Given the description of an element on the screen output the (x, y) to click on. 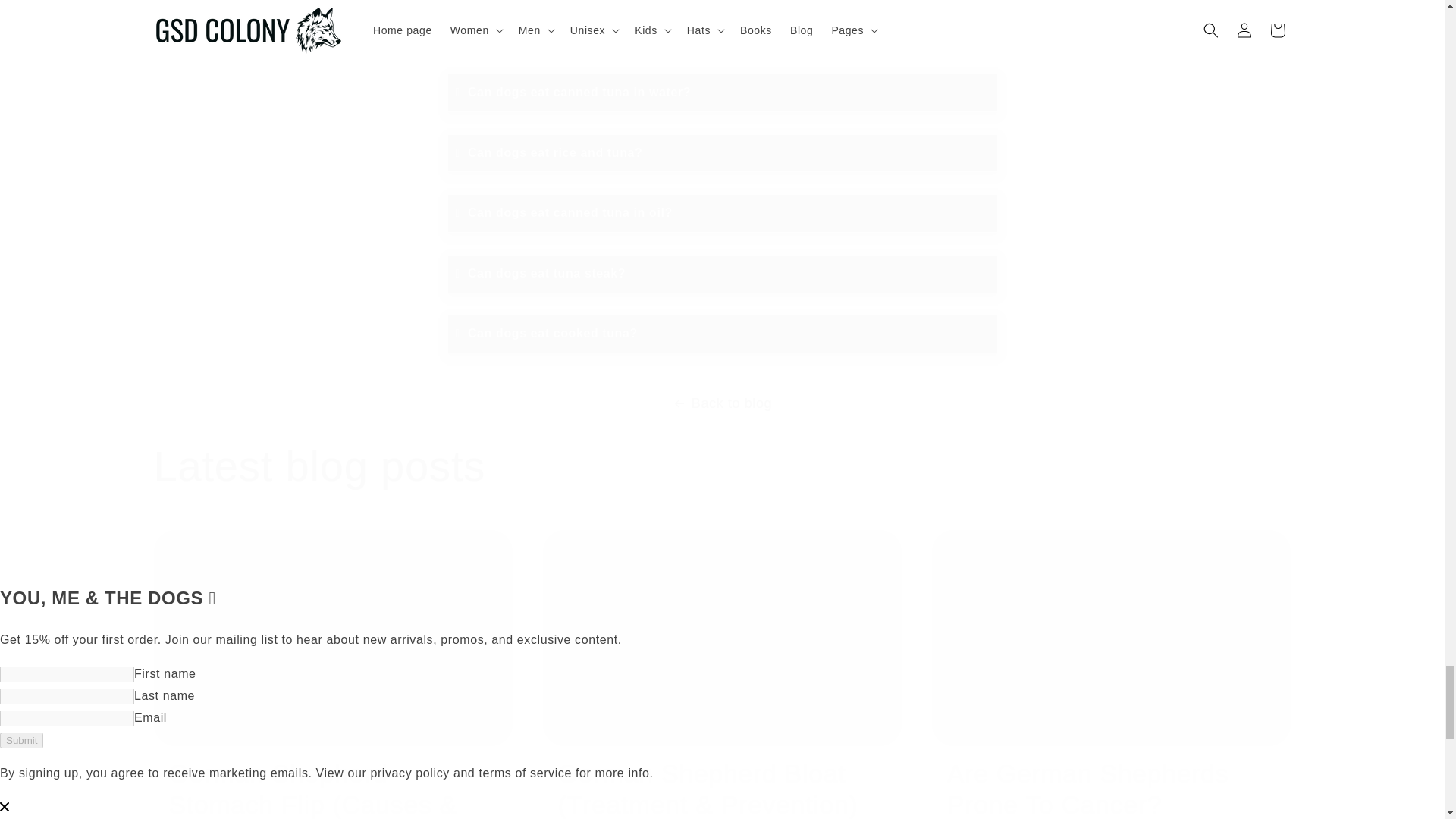
Latest blog posts (318, 466)
